Given the description of an element on the screen output the (x, y) to click on. 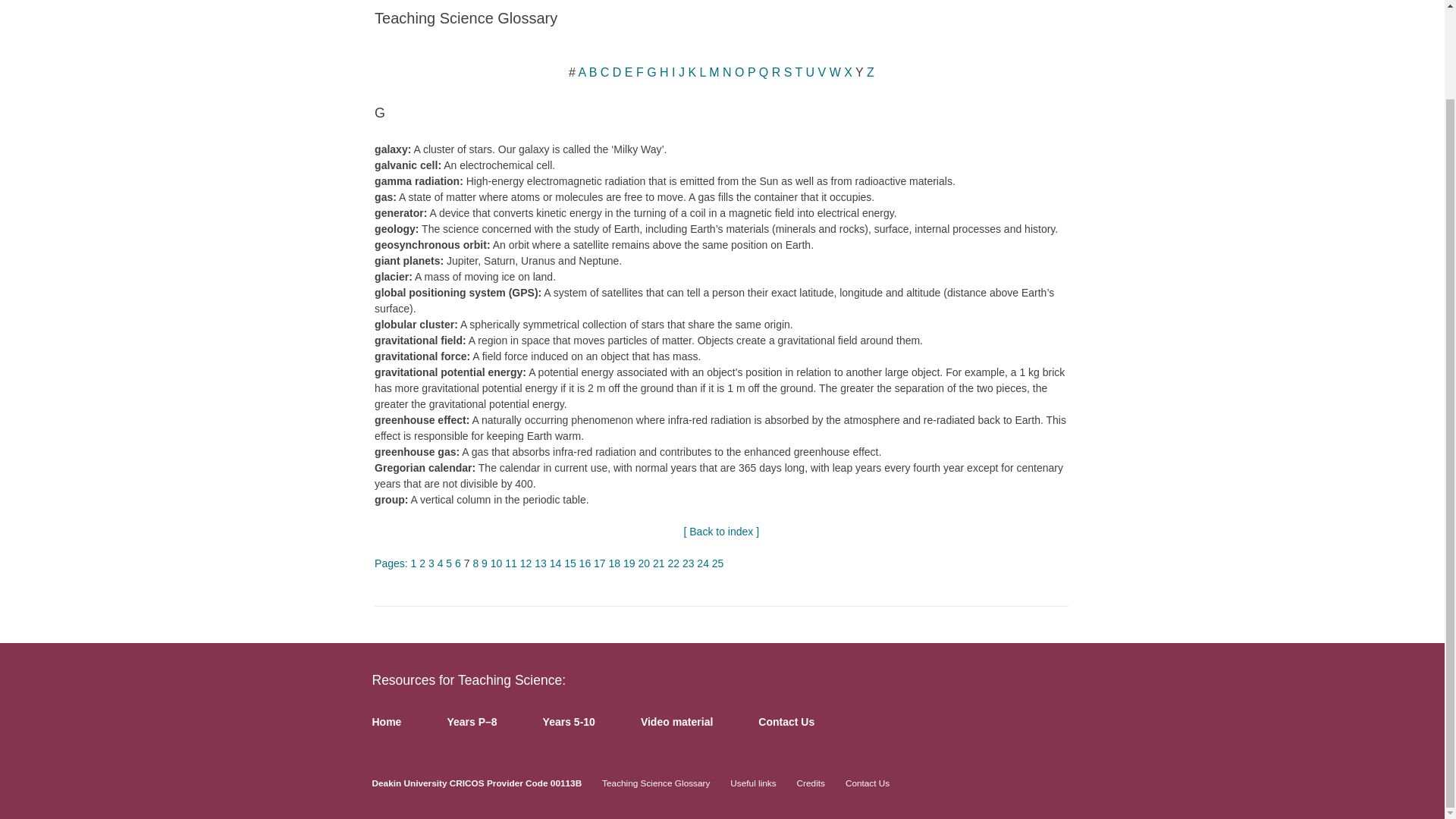
Resources for Teaching Science (468, 679)
 H (662, 72)
Pages: (392, 563)
